Given the description of an element on the screen output the (x, y) to click on. 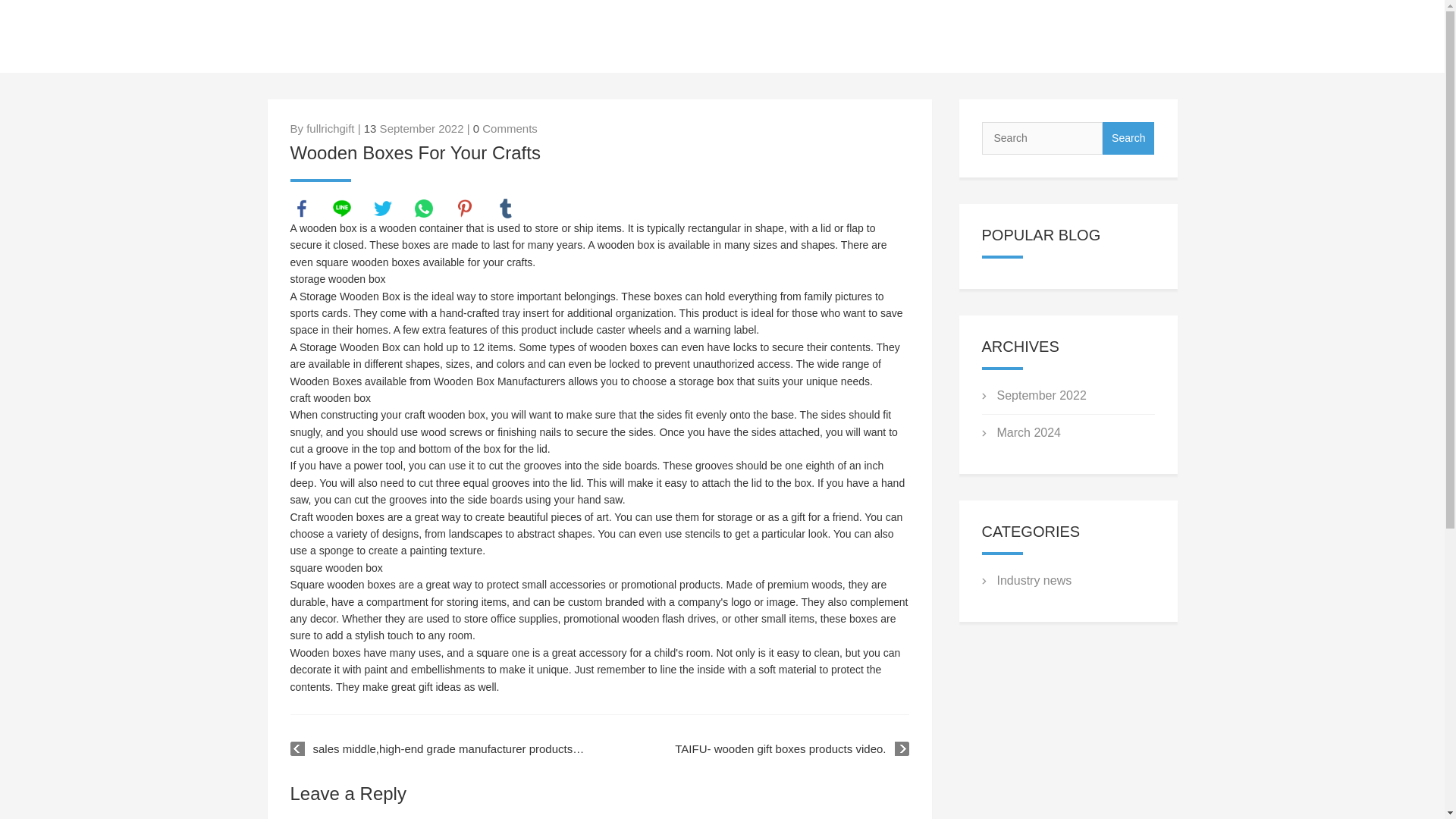
line (341, 208)
TAIFU- wooden gift boxes products video. (791, 748)
tumblr (505, 208)
September 2022 (1040, 395)
March 2024 (1028, 431)
Search (1128, 138)
facebook (301, 208)
pinterest (464, 208)
whatsapp (423, 208)
sales middle,high-end grade manufacturer products video (437, 748)
